Given the description of an element on the screen output the (x, y) to click on. 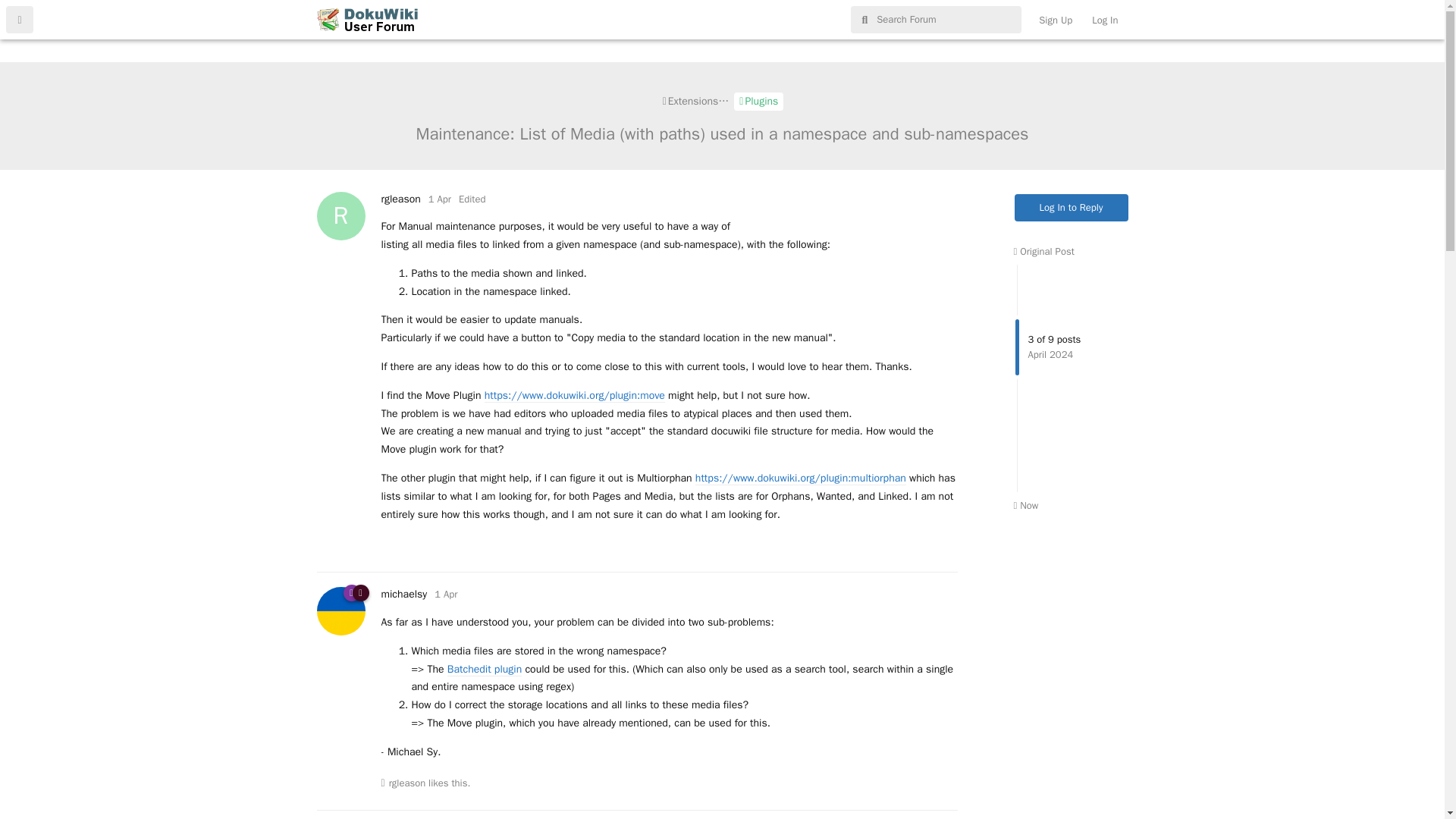
Plugins (758, 101)
Now (1025, 504)
Search (1414, 11)
Sign Up (1055, 19)
Monday, April 1, 2024 9:17 PM (445, 594)
1 Apr (445, 594)
Log In (1103, 19)
Monday, April 1, 2024 8:35 AM (439, 198)
Original Post (1043, 250)
rgleason (407, 783)
michaelsy (403, 594)
Batchedit plugin (483, 669)
1 Apr (439, 198)
How to install and use plugins (400, 198)
